Given the description of an element on the screen output the (x, y) to click on. 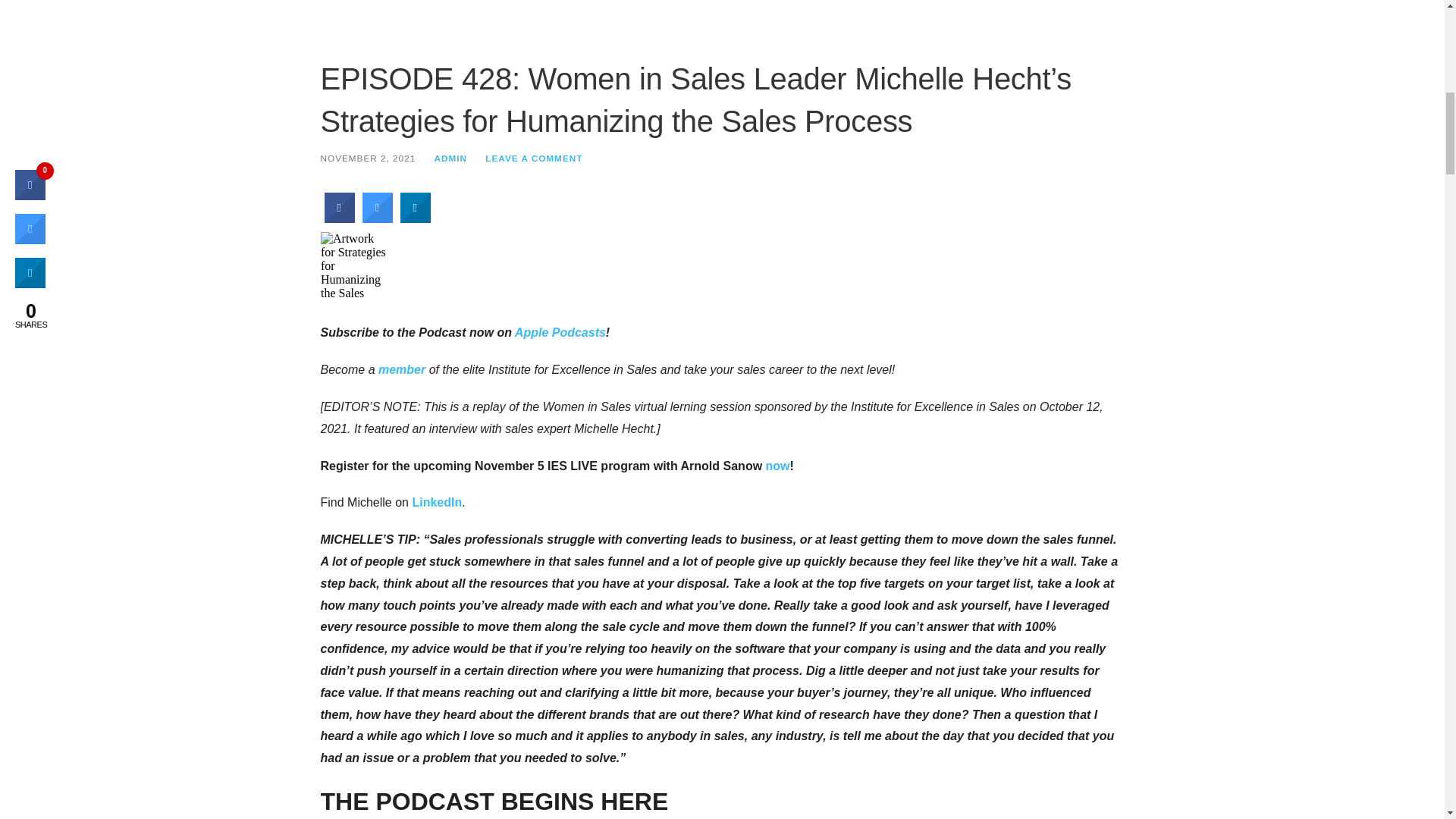
LEAVE A COMMENT (533, 157)
Share on Twitter (377, 218)
Libsyn Player (722, 265)
Share on Facebook (339, 218)
Apple Podcasts (560, 332)
member (401, 369)
Posts by admin (450, 157)
Share to LinkedIn (415, 218)
ADMIN (450, 157)
LinkedIn (436, 502)
now (777, 465)
